Given the description of an element on the screen output the (x, y) to click on. 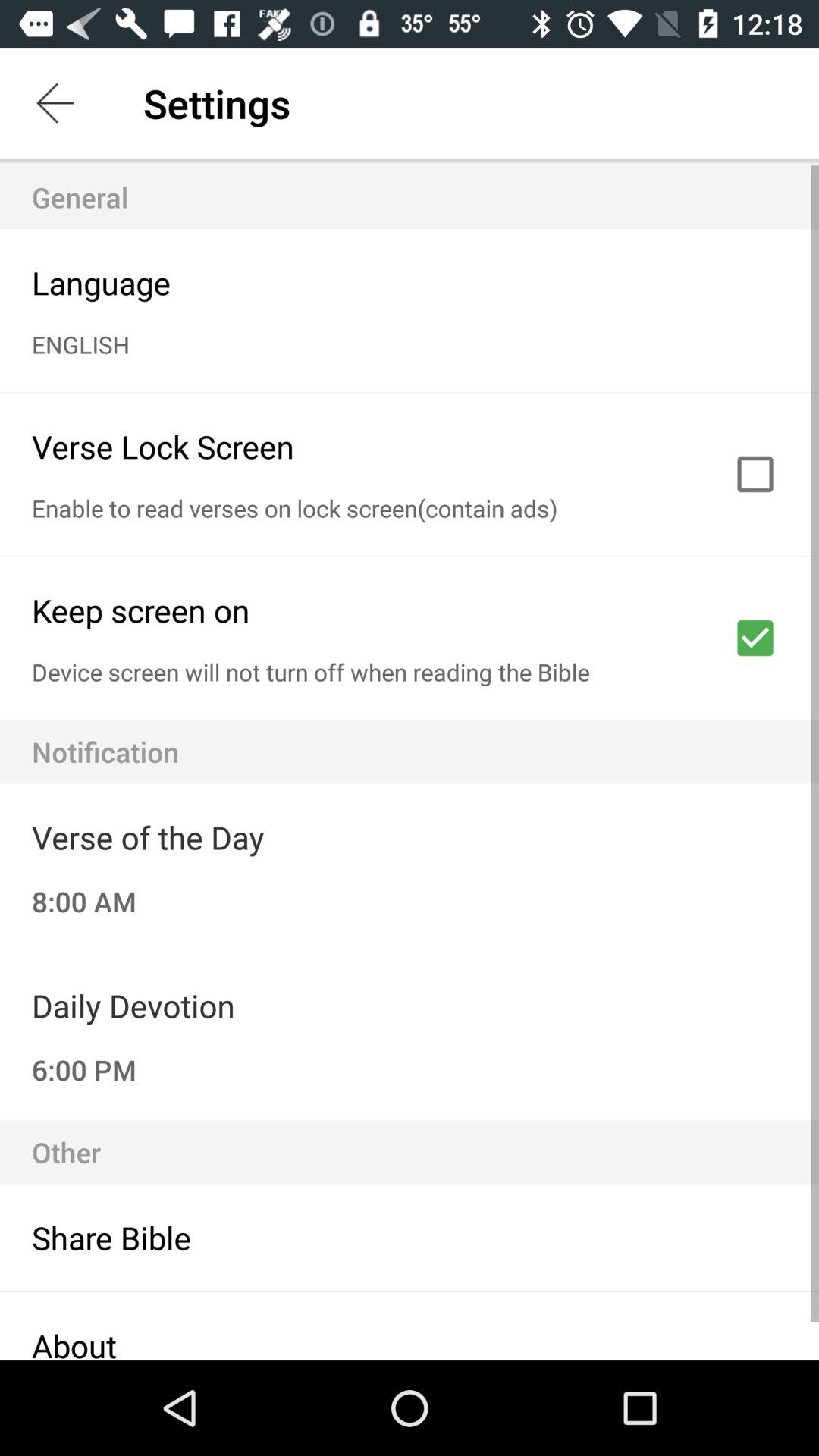
toggle keep screen on option (755, 637)
